Given the description of an element on the screen output the (x, y) to click on. 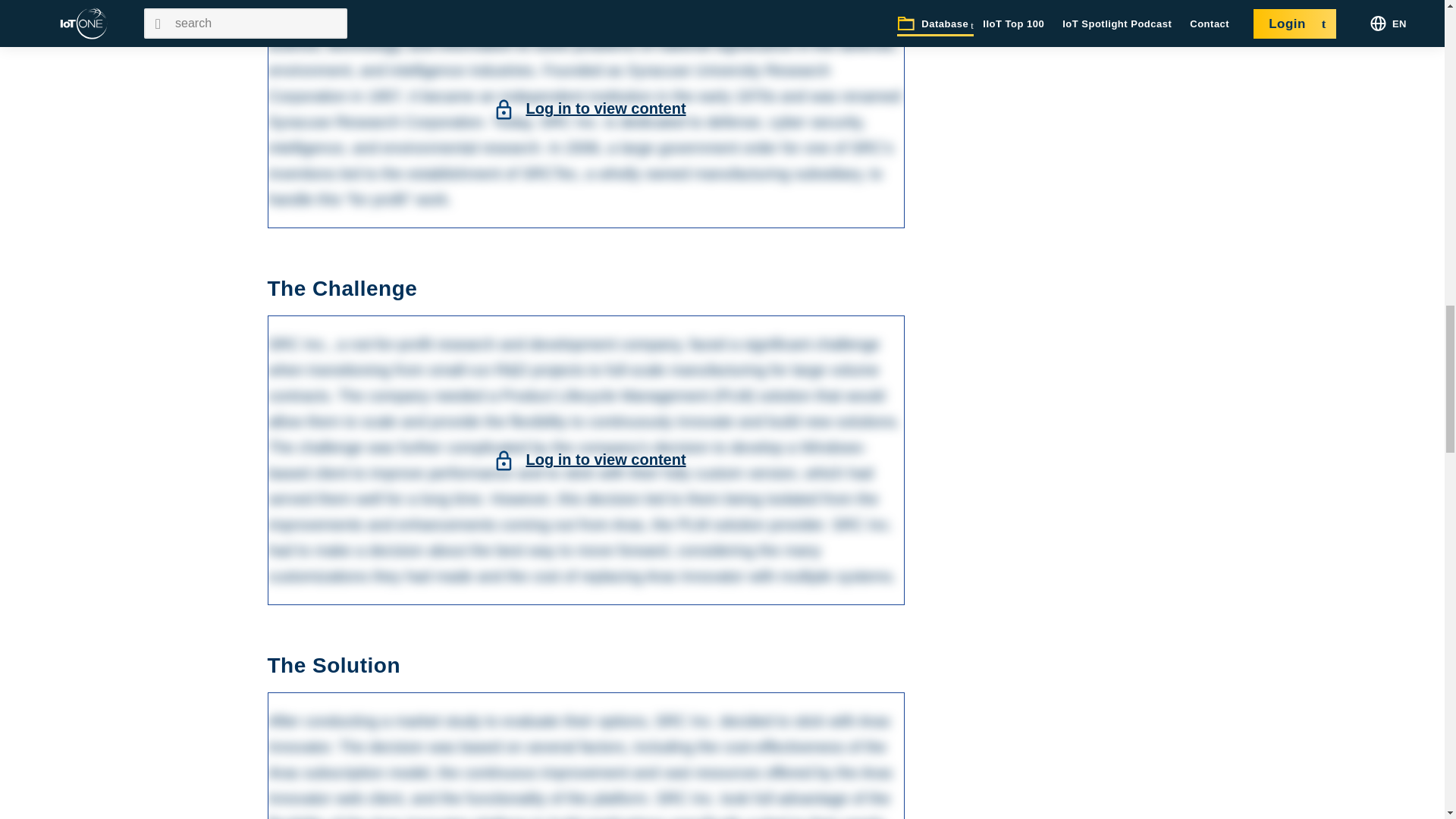
Log in to view content (605, 108)
Log in to view content (605, 459)
